Given the description of an element on the screen output the (x, y) to click on. 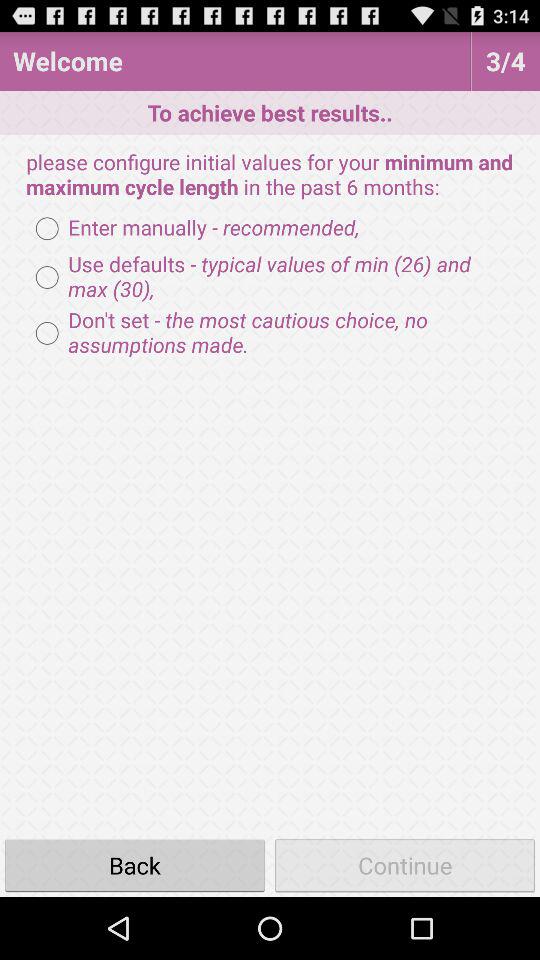
swipe to the enter manually - recommended, icon (192, 228)
